Given the description of an element on the screen output the (x, y) to click on. 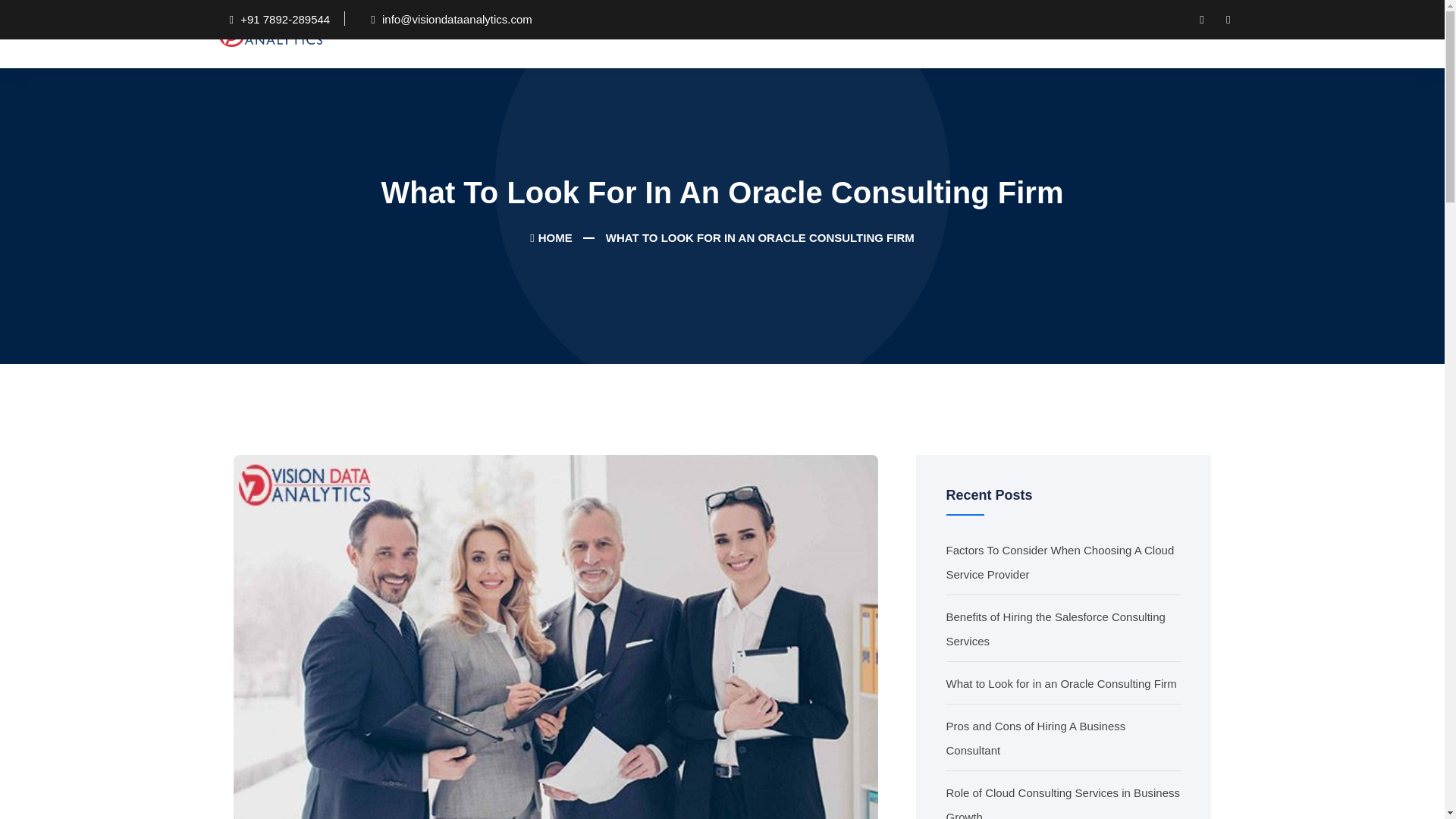
CONTACT (1111, 33)
DIGITAL TRANSFORMATION (579, 33)
IT CONSULTING (723, 33)
Data Analytics (839, 33)
Digital Transformation (579, 33)
DATA ANALYTICS (839, 33)
IT Consulting (723, 33)
ABOUT US (451, 33)
About Us (451, 33)
HOME (550, 237)
